Given the description of an element on the screen output the (x, y) to click on. 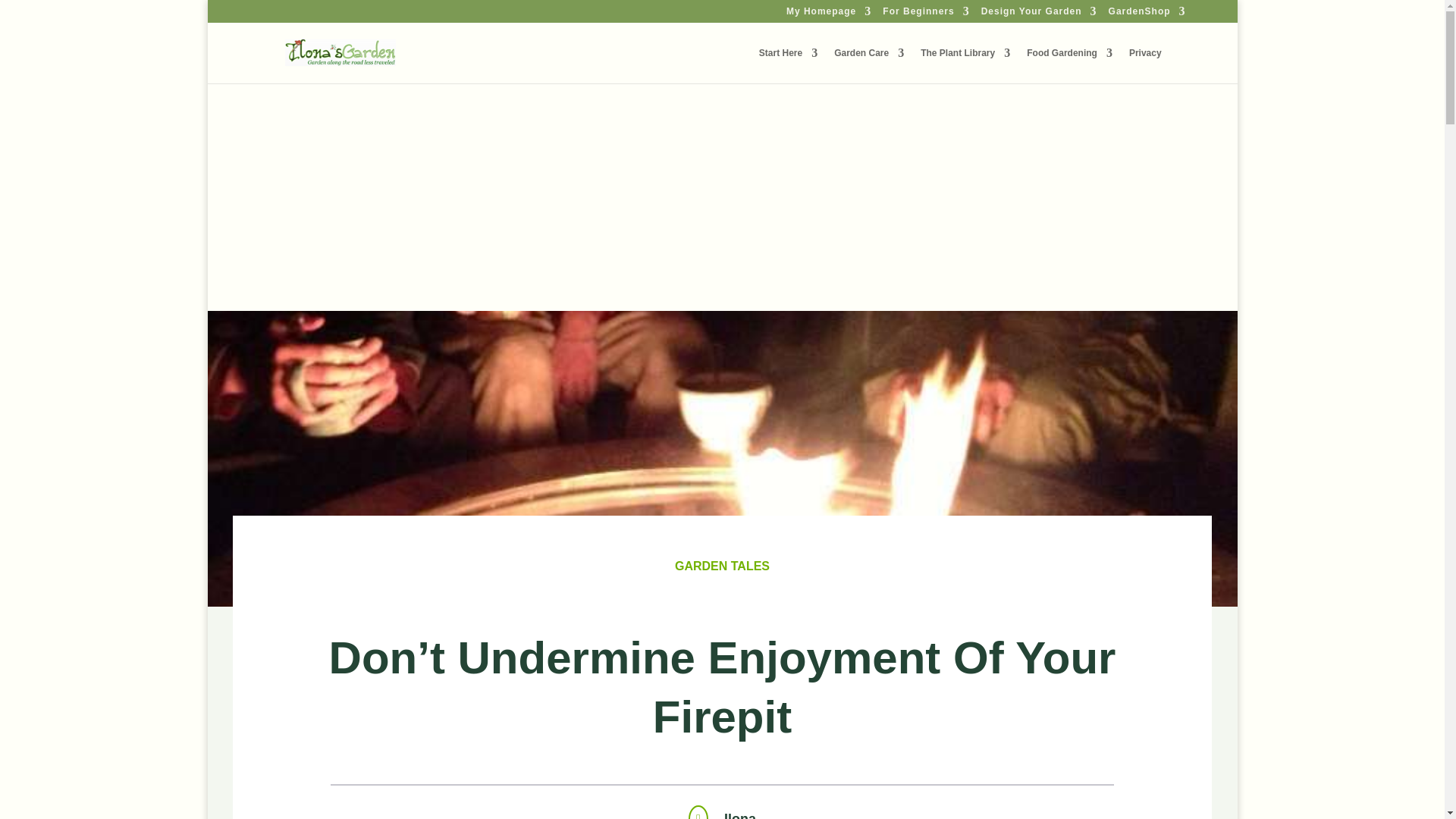
Start Here (787, 65)
My Homepage (828, 14)
Monthly Garden Calender (869, 65)
GardenShop (1147, 14)
Garden Care (869, 65)
Home Gardening (787, 65)
The Plant Library (965, 65)
Grow your own food (1069, 65)
Design Your Garden (1039, 14)
beginning gardening (925, 14)
